Given the description of an element on the screen output the (x, y) to click on. 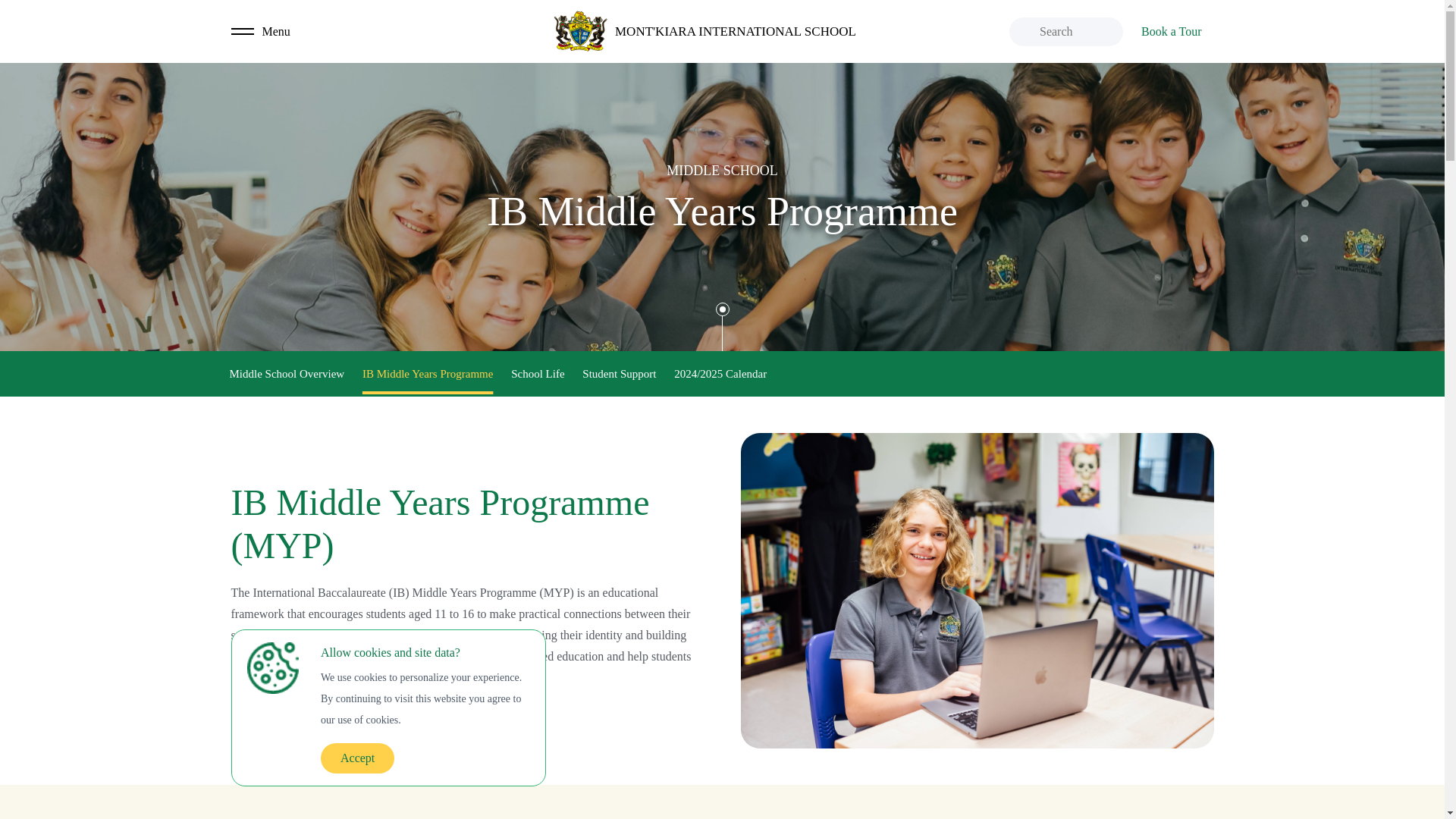
Book a Tour (1171, 30)
MONT'KIARA INTERNATIONAL SCHOOL (704, 31)
